Given the description of an element on the screen output the (x, y) to click on. 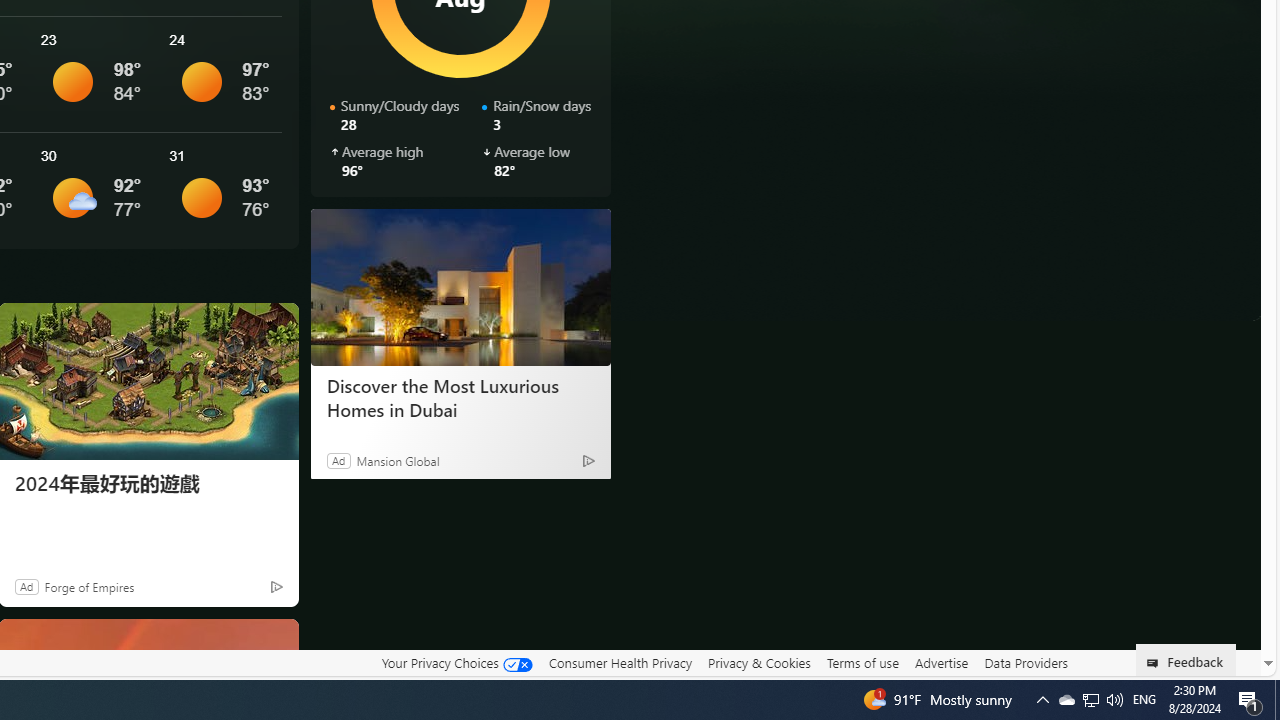
Class: feedback_link_icon-DS-EntryPoint1-1 (1156, 663)
Privacy & Cookies (759, 662)
